Given the description of an element on the screen output the (x, y) to click on. 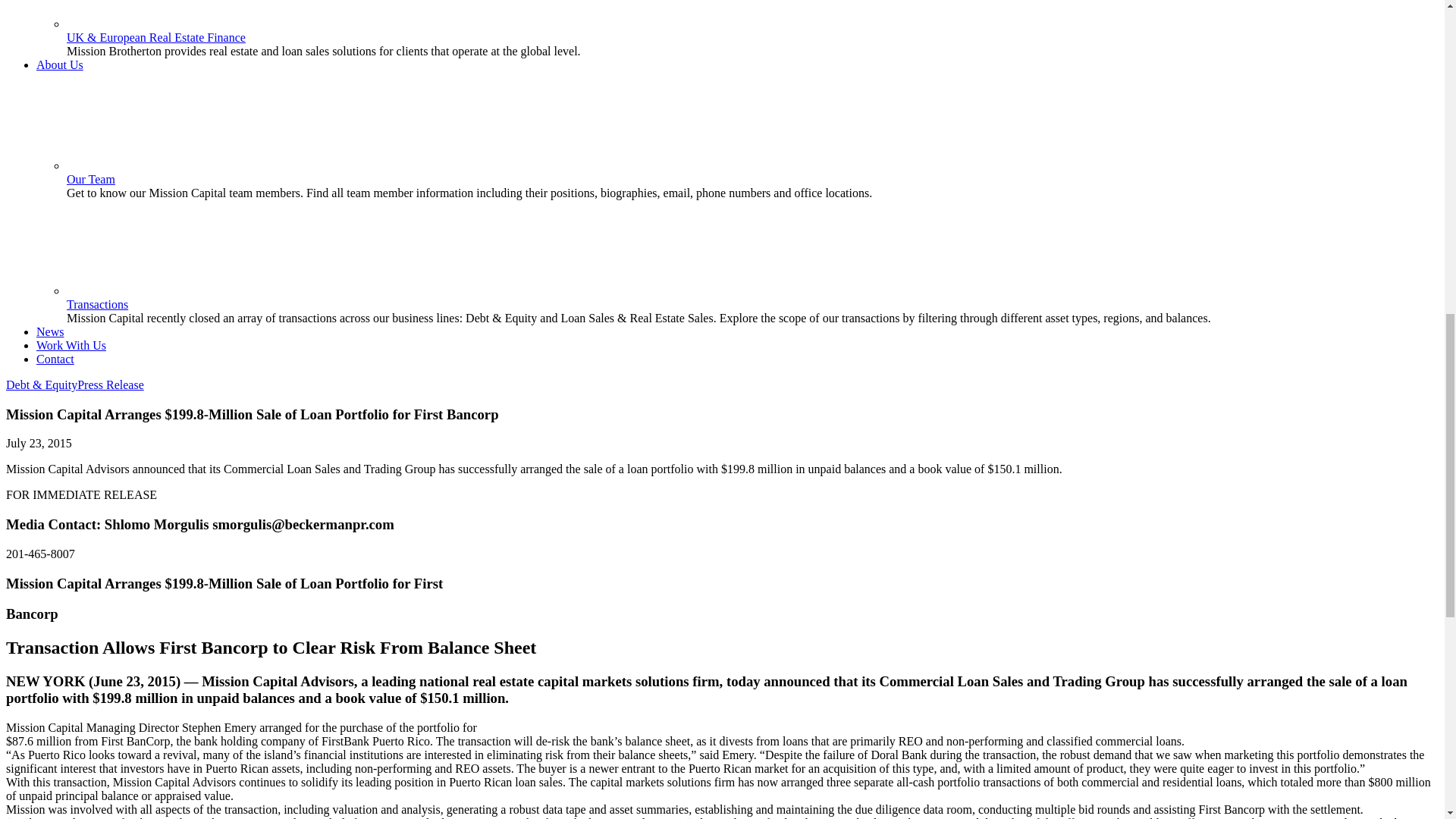
News (50, 331)
Contact (55, 358)
Transactions (97, 304)
Press Release (110, 384)
Our Team (90, 178)
Work With Us (71, 345)
About Us (59, 64)
